Given the description of an element on the screen output the (x, y) to click on. 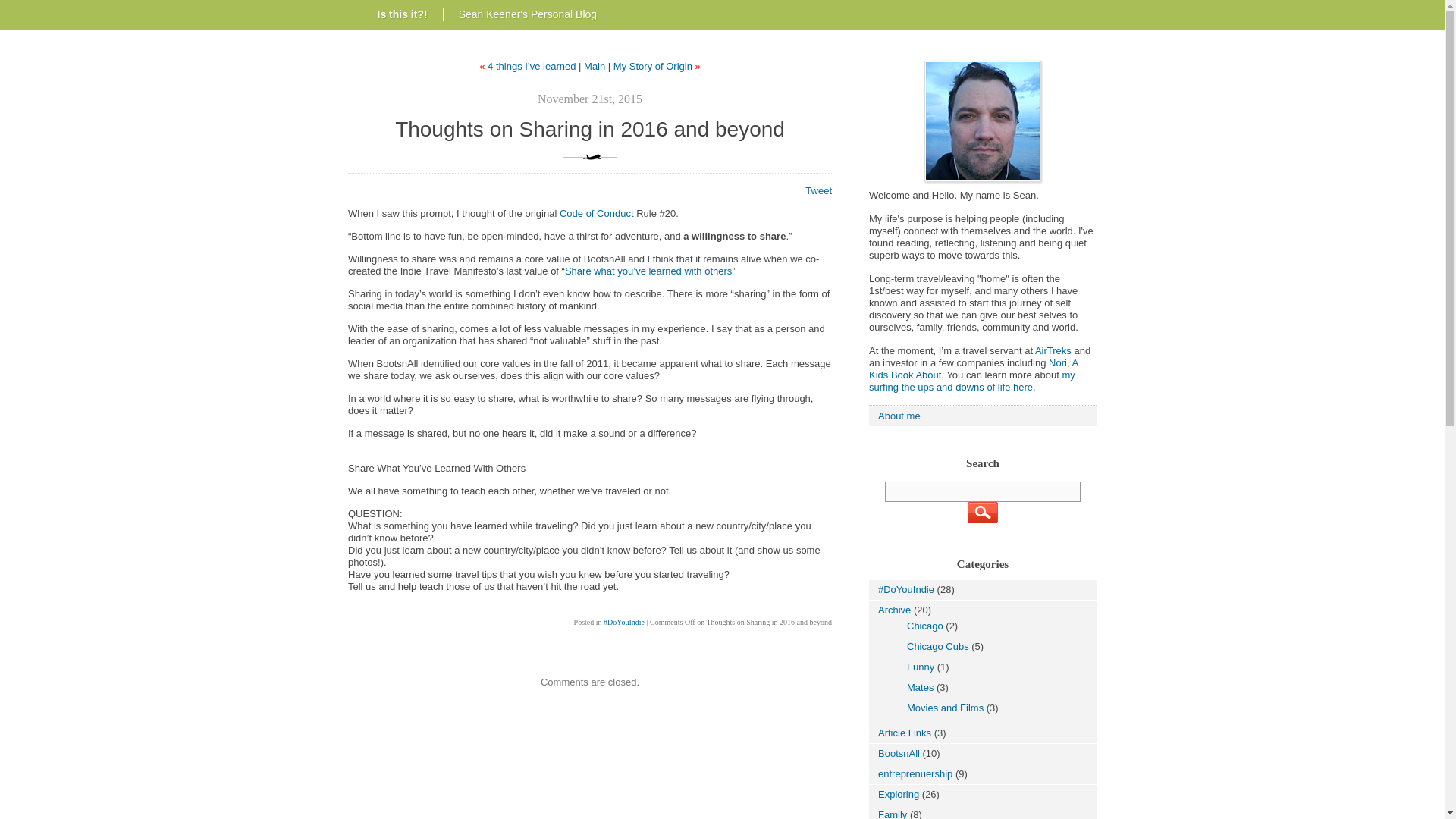
Article Links (904, 732)
Movies and Films (945, 707)
Archive (894, 609)
Mates (920, 686)
my surfing the ups and downs of life here (972, 381)
entreprenuership (914, 773)
Putting under Archive (925, 625)
Search (982, 512)
A Kids Book About (973, 368)
